Given the description of an element on the screen output the (x, y) to click on. 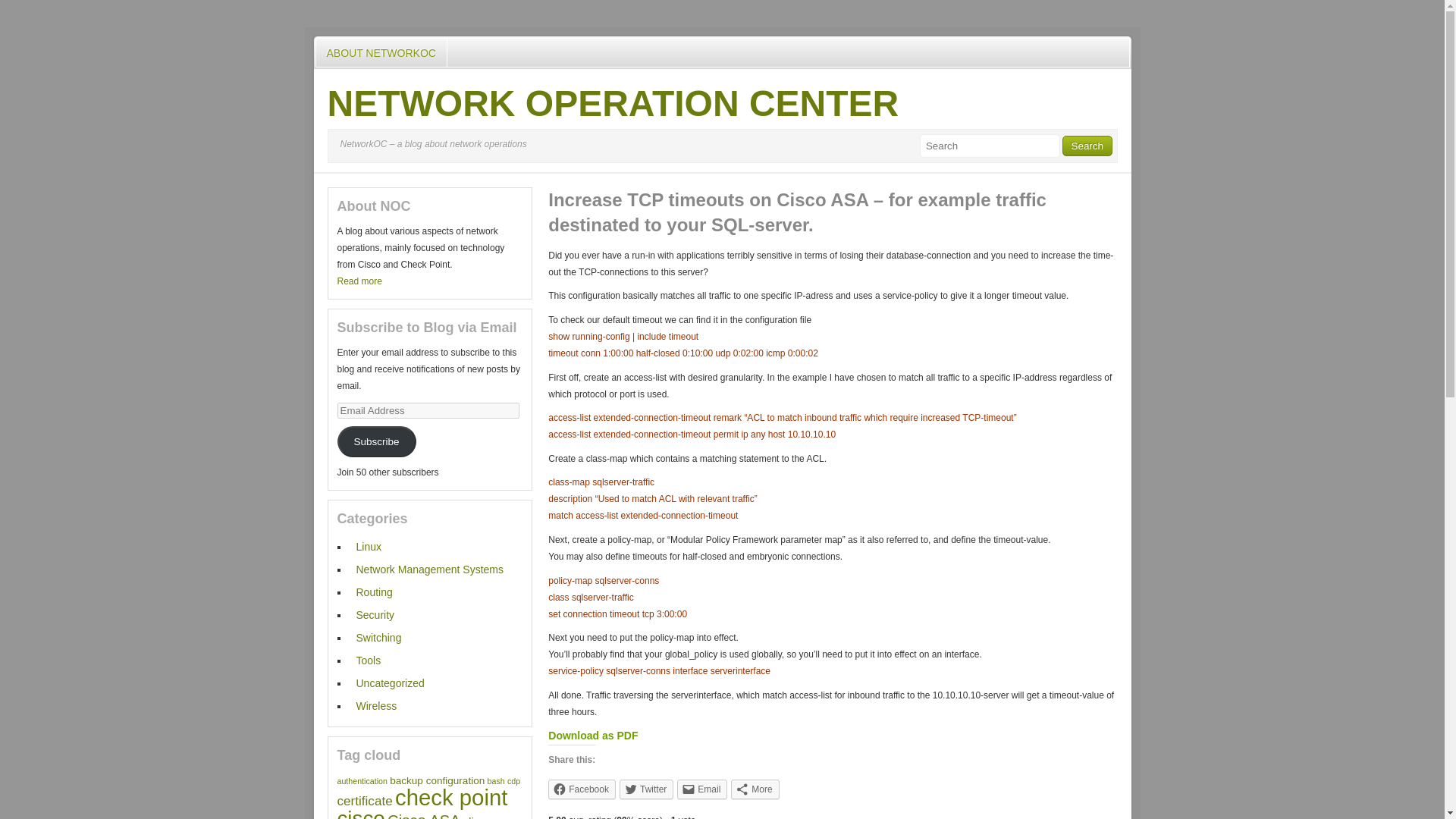
Subscribe (375, 441)
Cisco ASA (423, 815)
Click to share on Twitter (646, 789)
Security (375, 614)
bash (496, 780)
Linux (368, 546)
Email (701, 789)
More (754, 789)
cdp (512, 780)
About NetworkOC (358, 281)
